Given the description of an element on the screen output the (x, y) to click on. 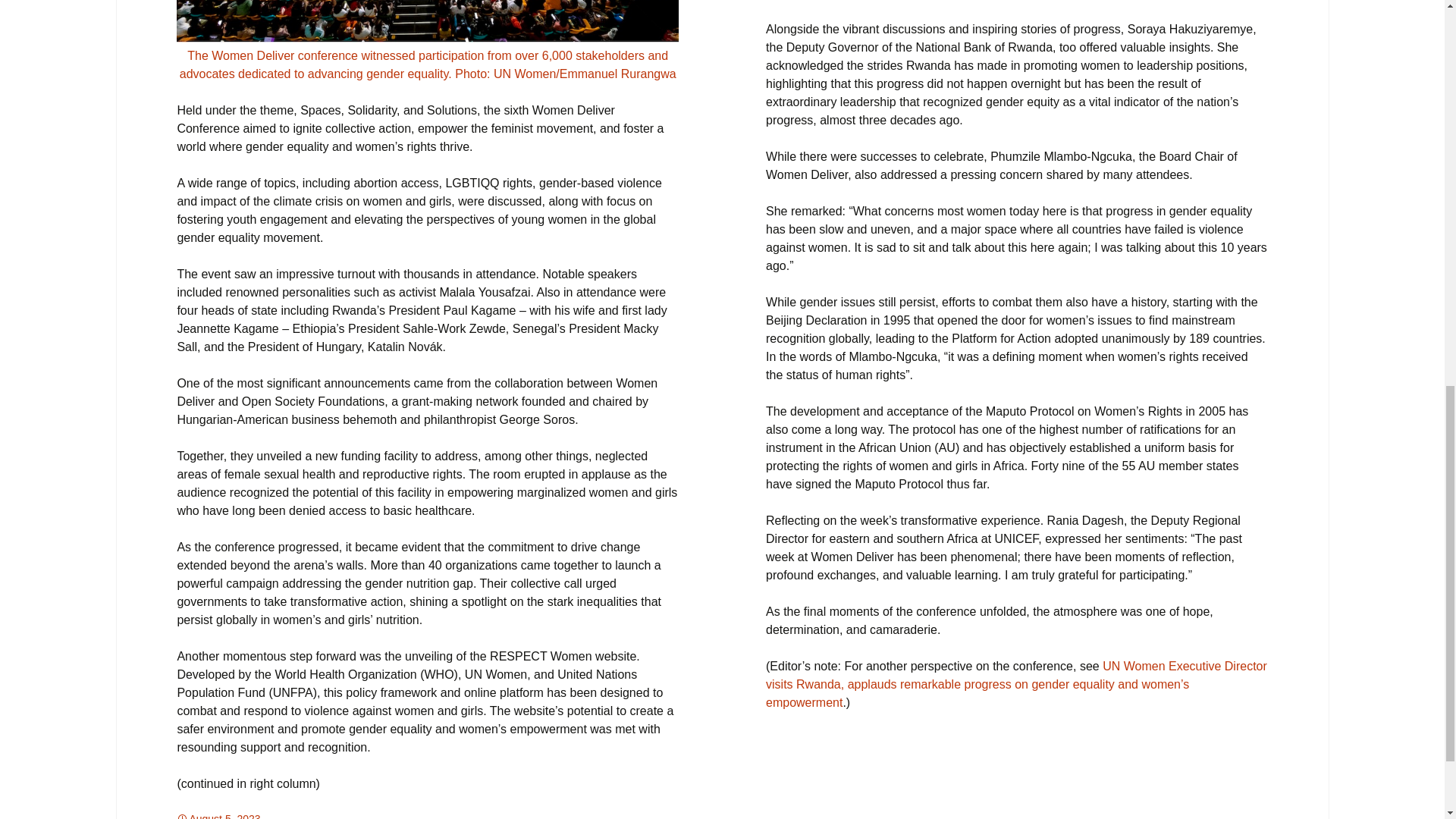
global (334, 816)
Africa (295, 816)
WOMEN'S EQUALITY (408, 816)
August 5, 2023 (218, 816)
